Given the description of an element on the screen output the (x, y) to click on. 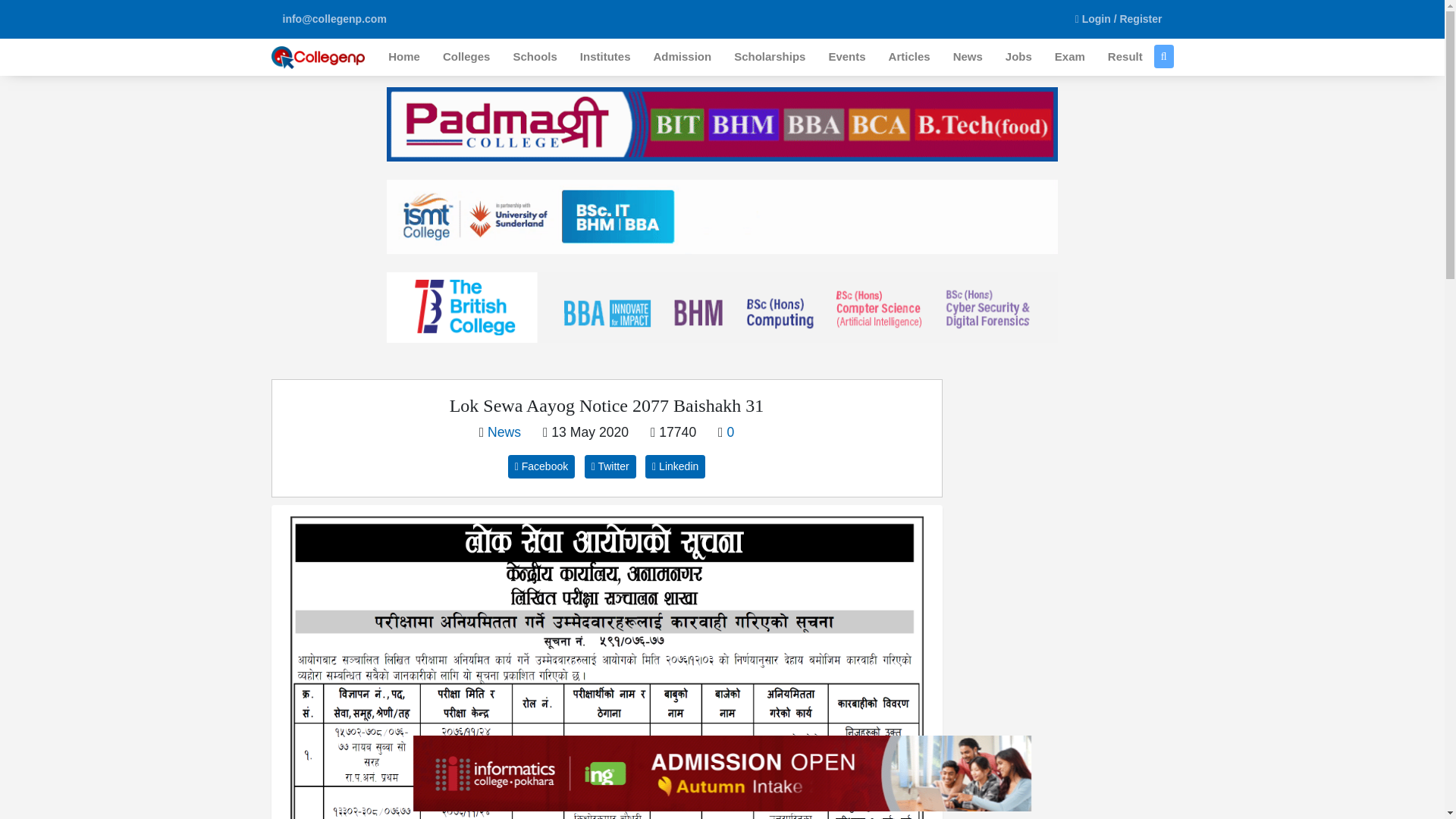
Jobs (1018, 57)
Linkedin (674, 466)
Facebook (541, 466)
Home (403, 57)
Events (846, 57)
Schools (533, 57)
Colleges (466, 57)
News (504, 432)
Result (1125, 57)
Exam (1069, 57)
